Given the description of an element on the screen output the (x, y) to click on. 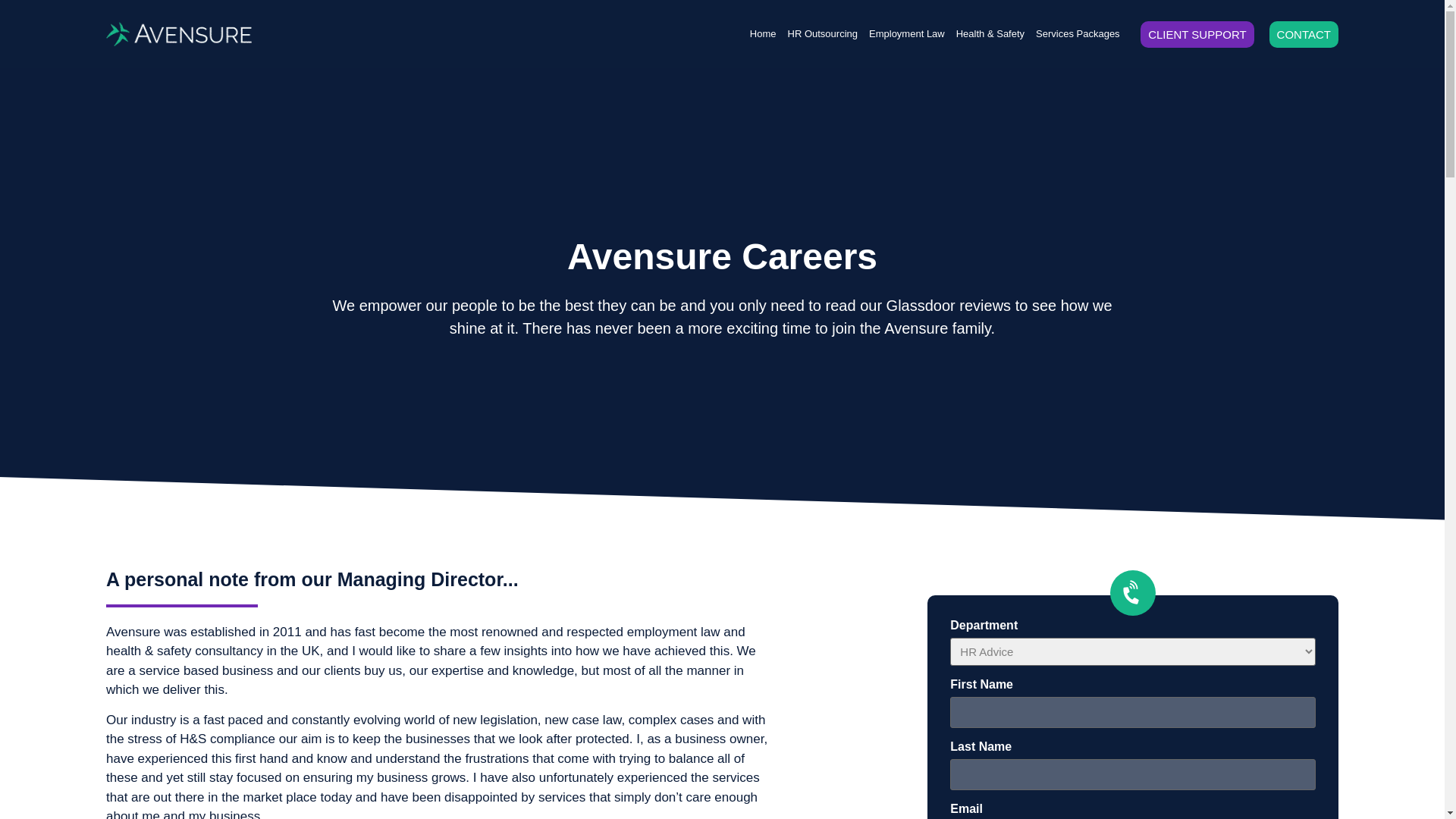
Home (762, 33)
Services Packages (1077, 33)
CONTACT (1303, 34)
Employment Law Advice For Employers (906, 33)
HR Outsourcing (822, 33)
Services Packages (1077, 33)
HR Outsourcing Services (822, 33)
CLIENT SUPPORT (1196, 34)
Home (762, 33)
Employment Law (906, 33)
